Given the description of an element on the screen output the (x, y) to click on. 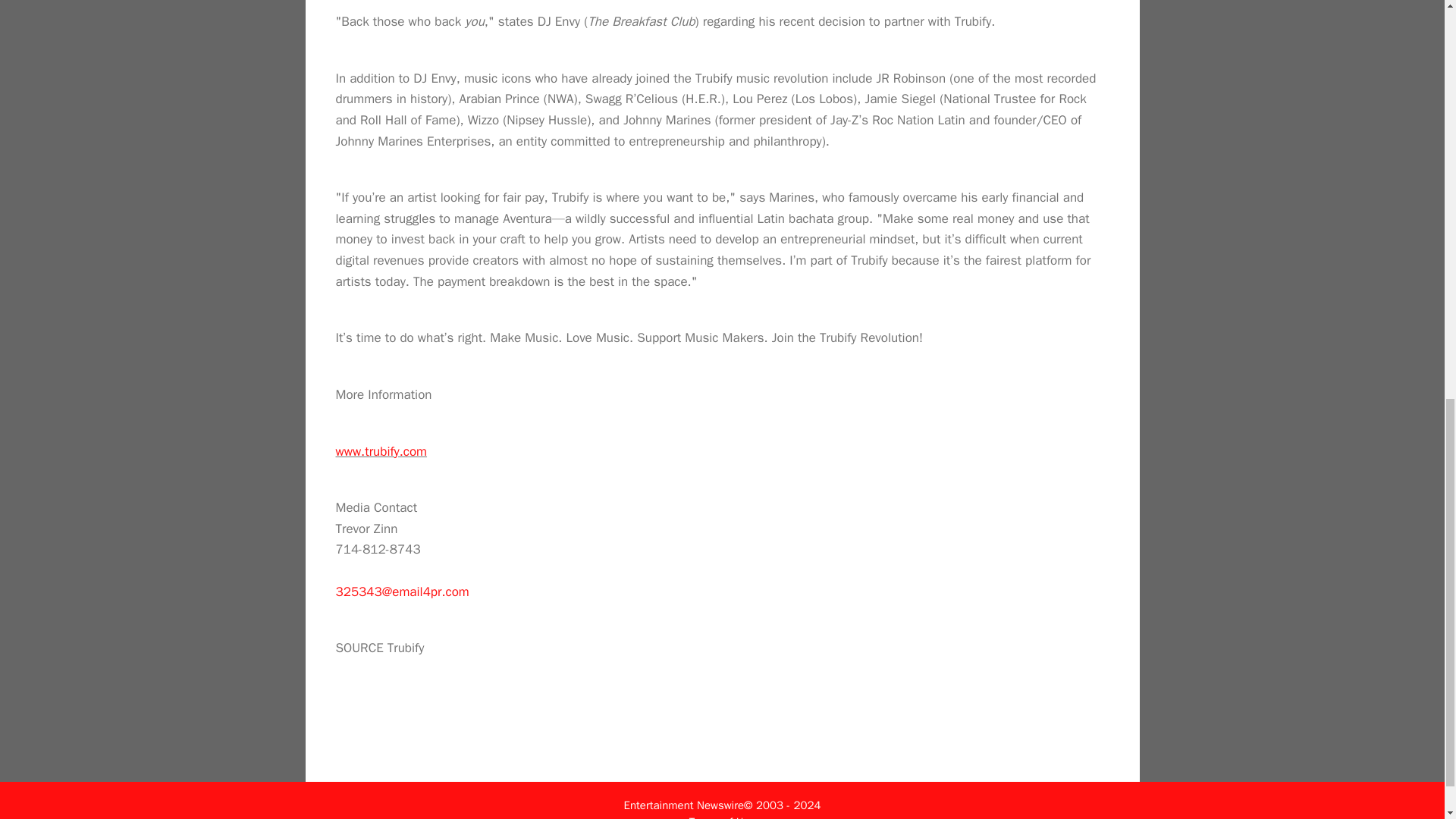
www.trubify.com (380, 451)
Terms of Use (721, 816)
